Given the description of an element on the screen output the (x, y) to click on. 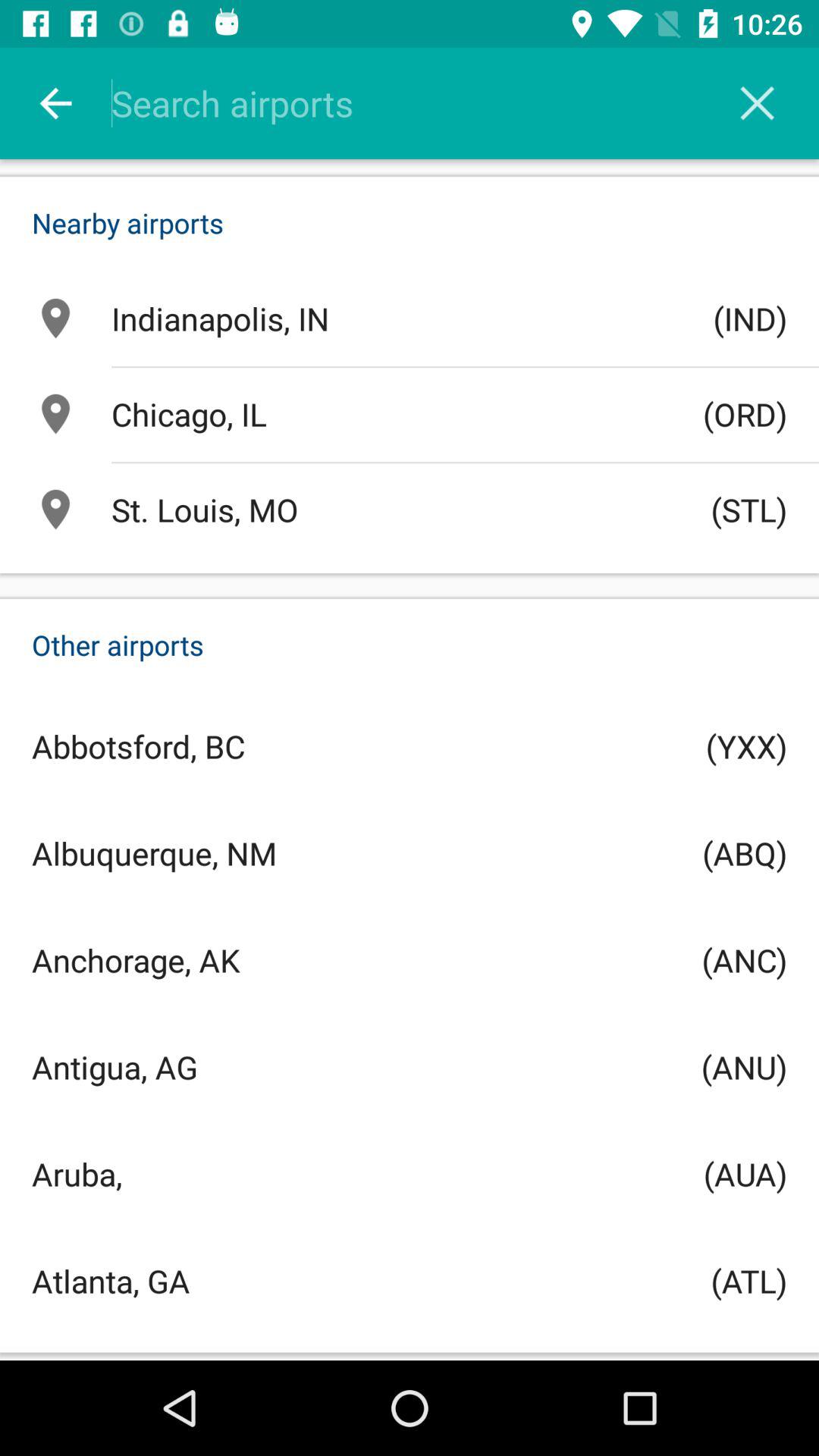
exit (757, 103)
